Given the description of an element on the screen output the (x, y) to click on. 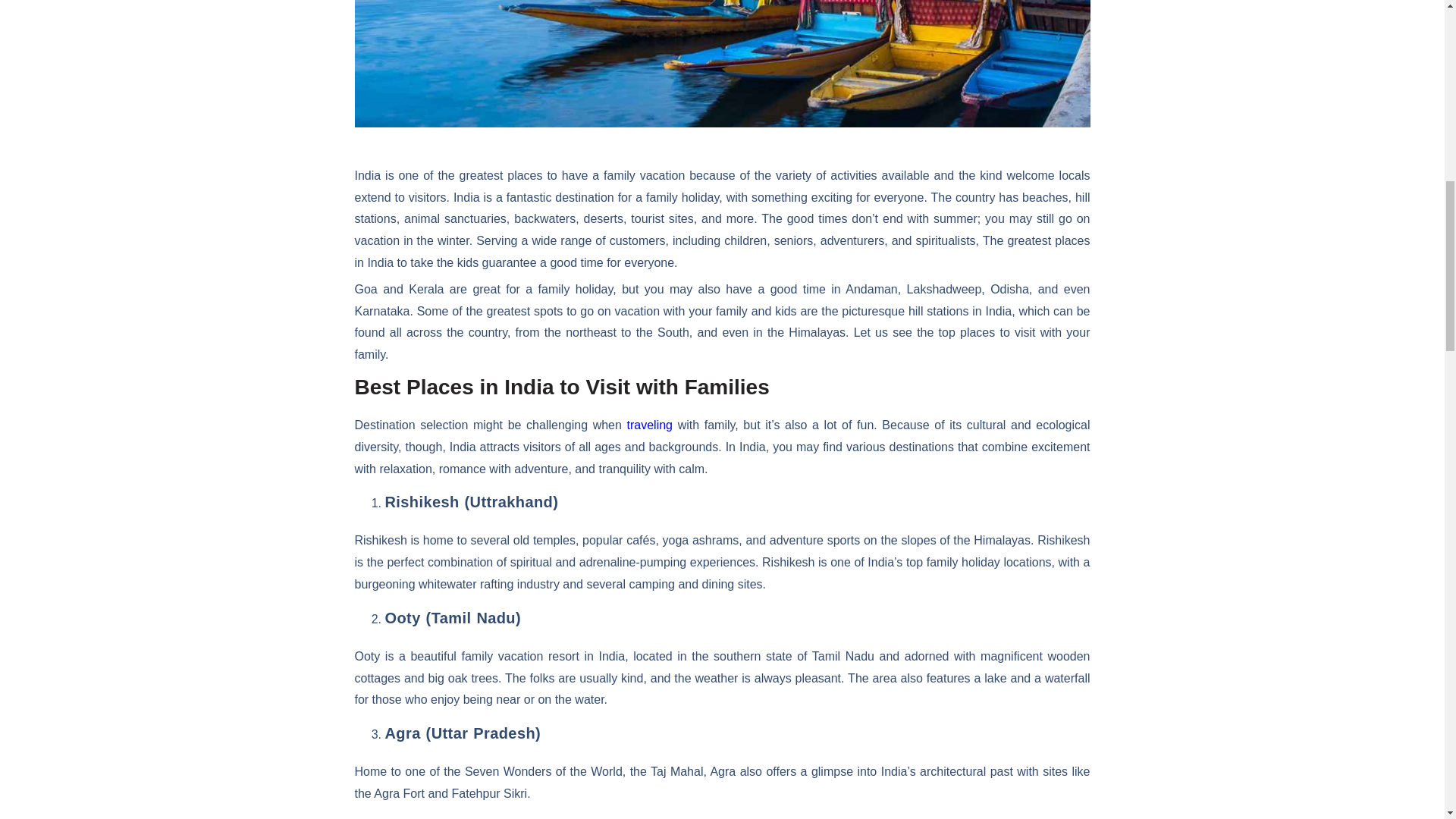
traveling (649, 424)
